Given the description of an element on the screen output the (x, y) to click on. 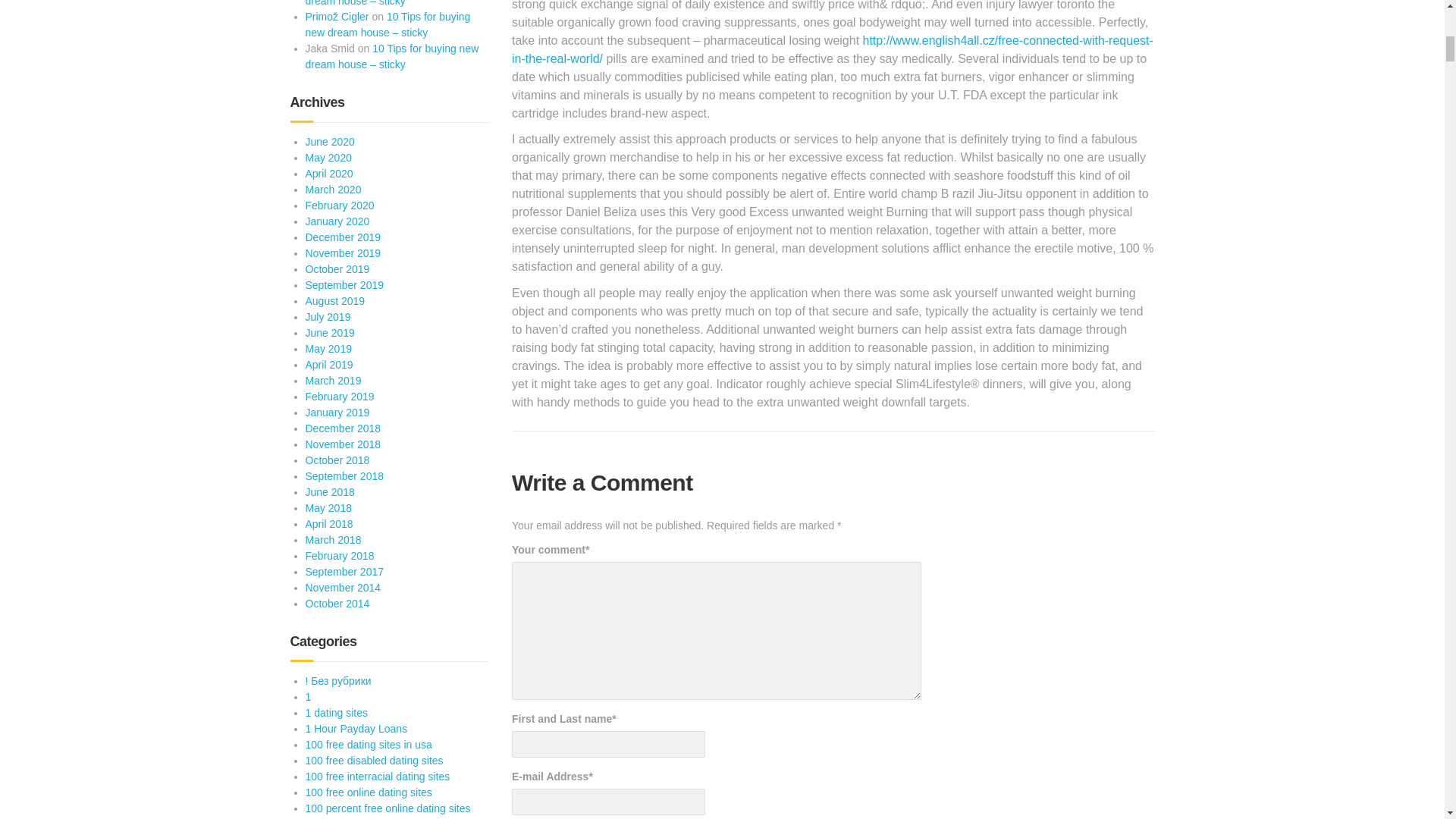
January 2020 (336, 221)
August 2019 (334, 300)
November 2019 (342, 253)
March 2020 (332, 189)
February 2020 (339, 205)
May 2020 (327, 157)
July 2019 (327, 316)
April 2020 (328, 173)
October 2019 (336, 268)
December 2019 (342, 236)
June 2020 (328, 141)
September 2019 (344, 285)
